Given the description of an element on the screen output the (x, y) to click on. 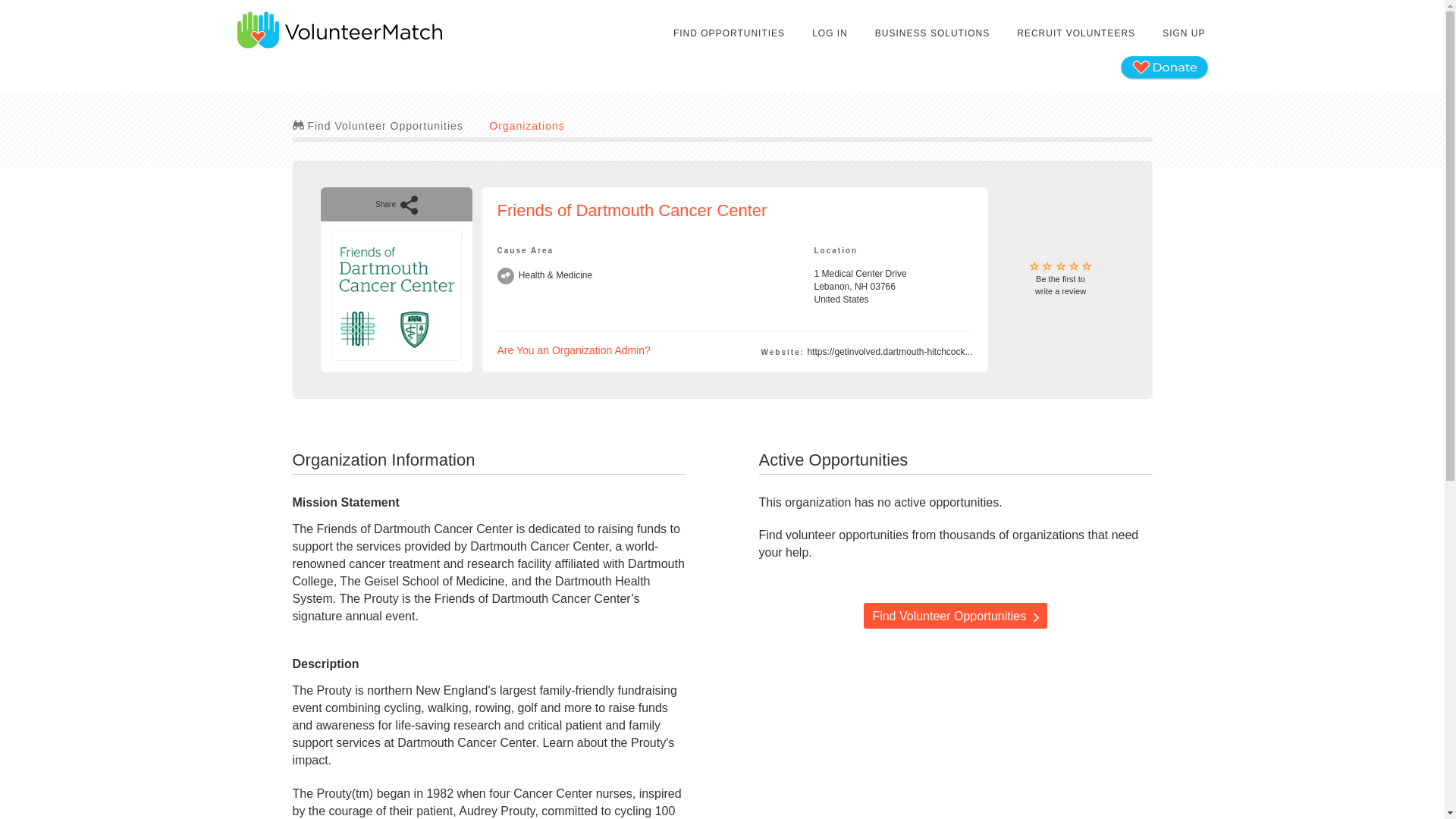
SIGN UP (1183, 32)
BUSINESS SOLUTIONS (1059, 279)
LOG IN (931, 32)
Find Volunteer Opportunities (829, 32)
Organizations (573, 349)
RECRUIT VOLUNTEERS (954, 615)
Find Volunteer Opportunities (526, 125)
FIND OPPORTUNITIES (1075, 32)
